Given the description of an element on the screen output the (x, y) to click on. 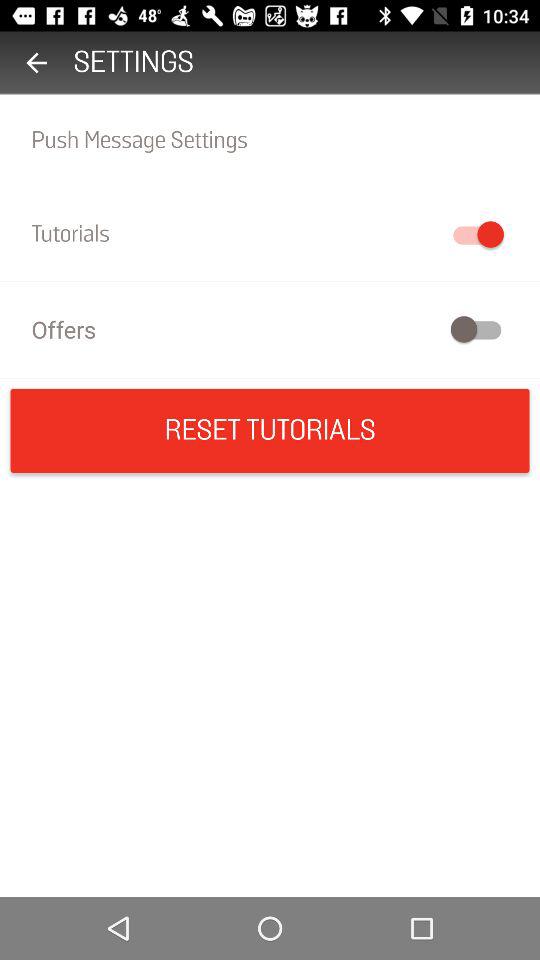
turn off the push message settings icon (270, 140)
